Given the description of an element on the screen output the (x, y) to click on. 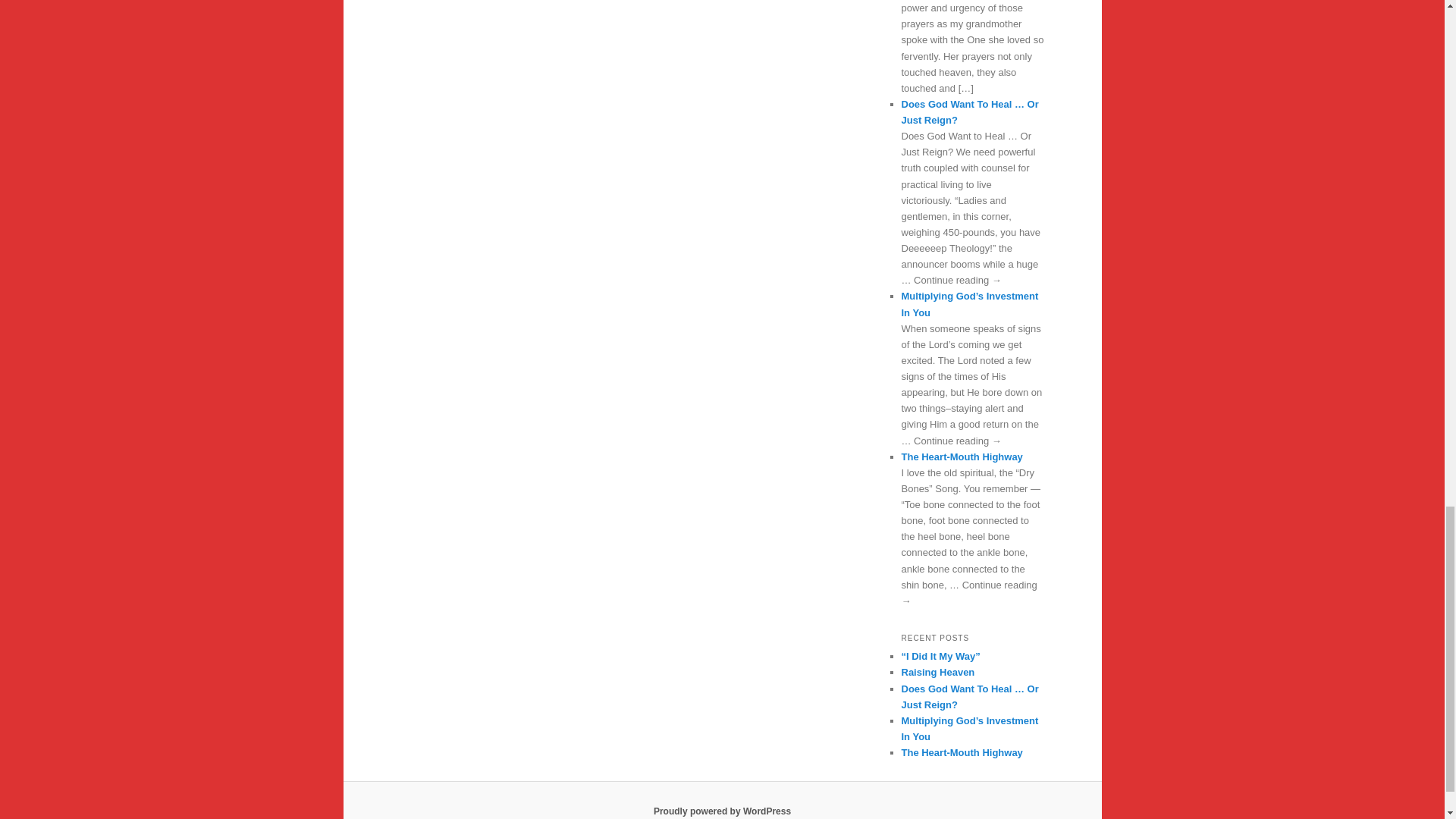
Semantic Personal Publishing Platform (721, 810)
